Given the description of an element on the screen output the (x, y) to click on. 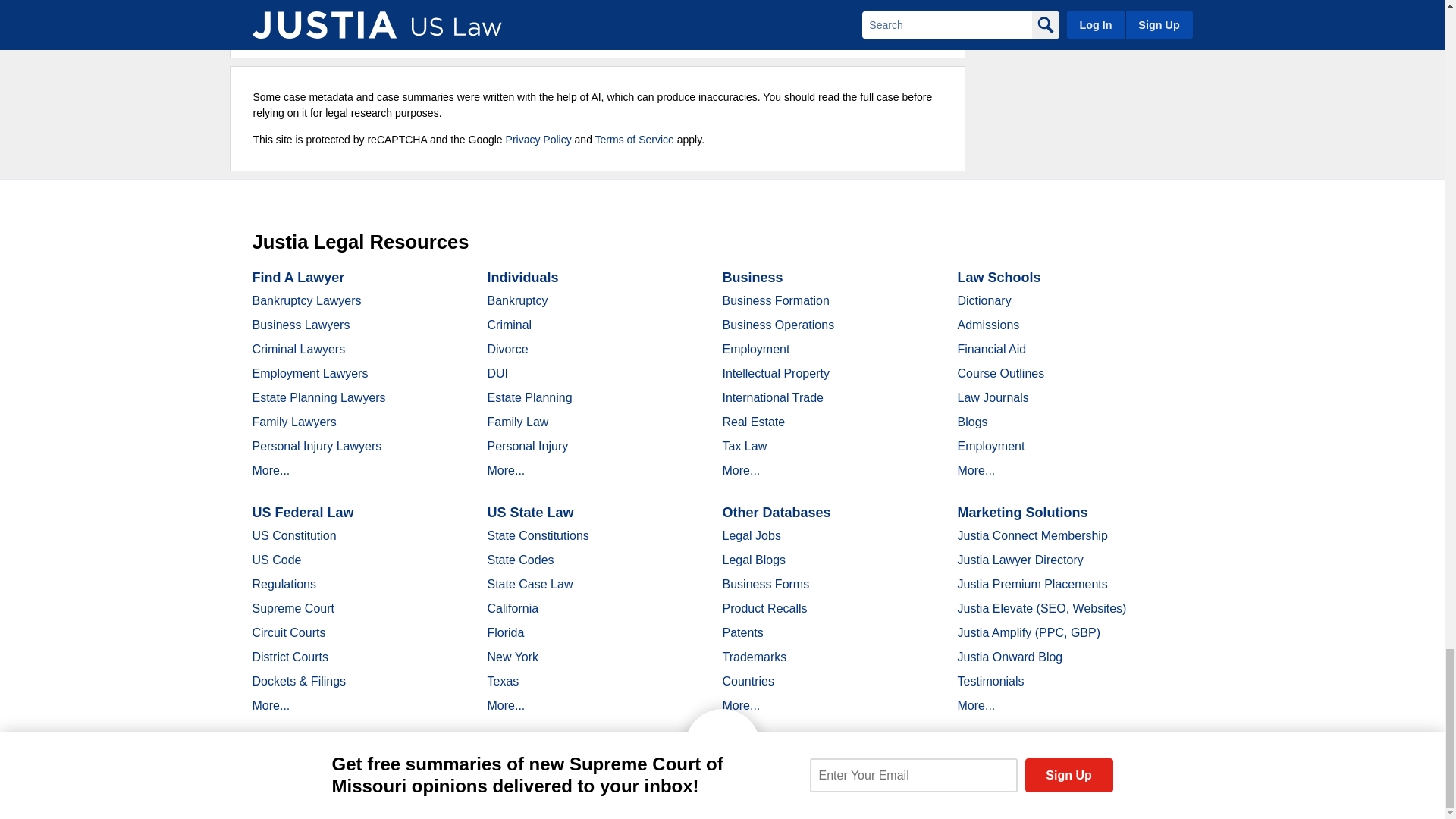
Facebook (345, 791)
Twitter (372, 791)
LinkedIn (398, 791)
